Given the description of an element on the screen output the (x, y) to click on. 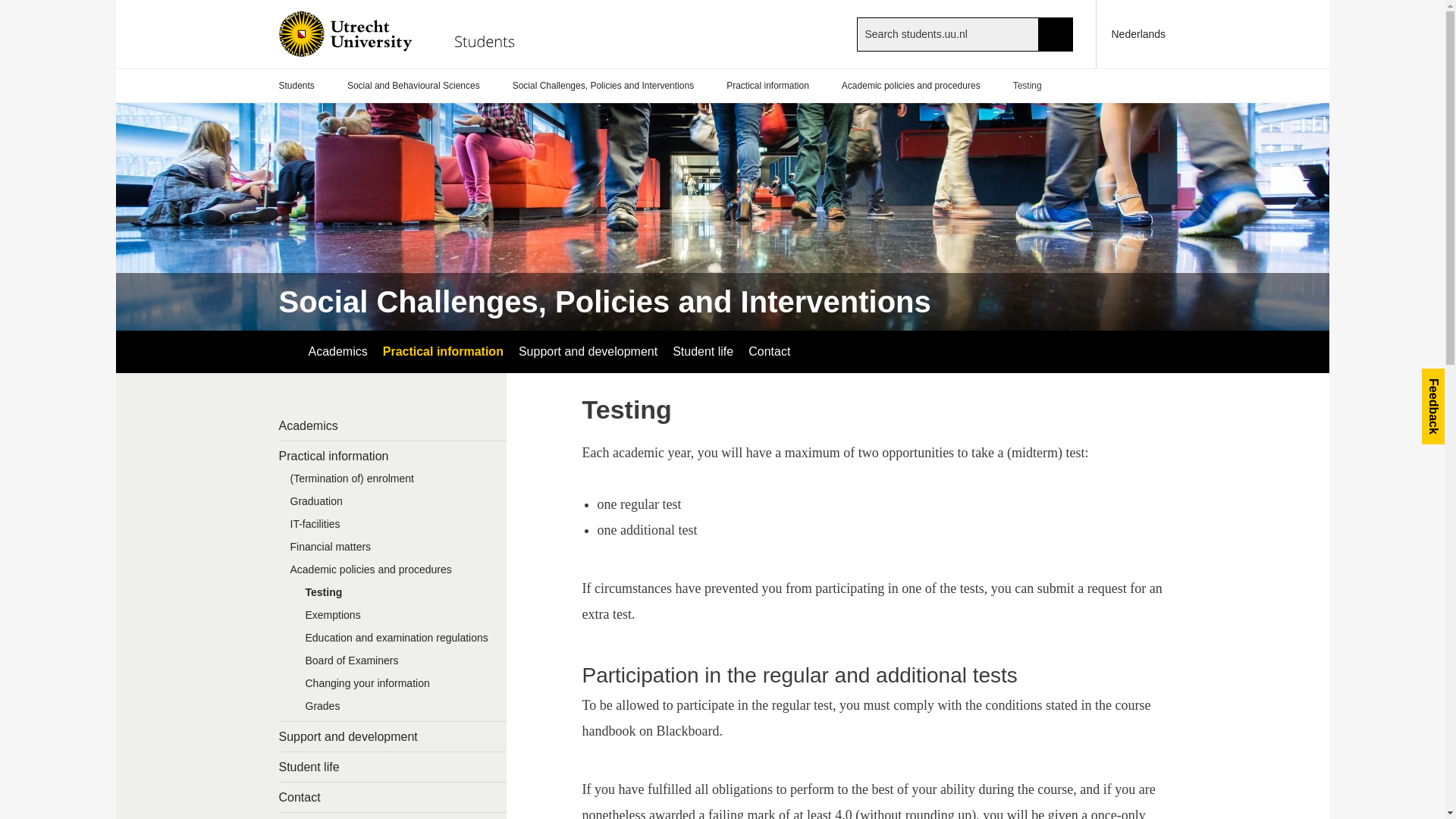
Financial matters (392, 549)
Nederlands (1131, 33)
Education and examination regulations (400, 640)
Social Challenges, Policies and Interventions (605, 301)
Academic policies and procedures (910, 85)
Social and Behavioural Sciences (413, 85)
Practical information (767, 85)
Testing (400, 595)
Student life (392, 767)
Practical information (392, 455)
Board of Examiners (400, 663)
Home (408, 33)
IT-facilities (392, 527)
Academics (336, 351)
Social Challenges, Policies and Interventions (603, 85)
